Given the description of an element on the screen output the (x, y) to click on. 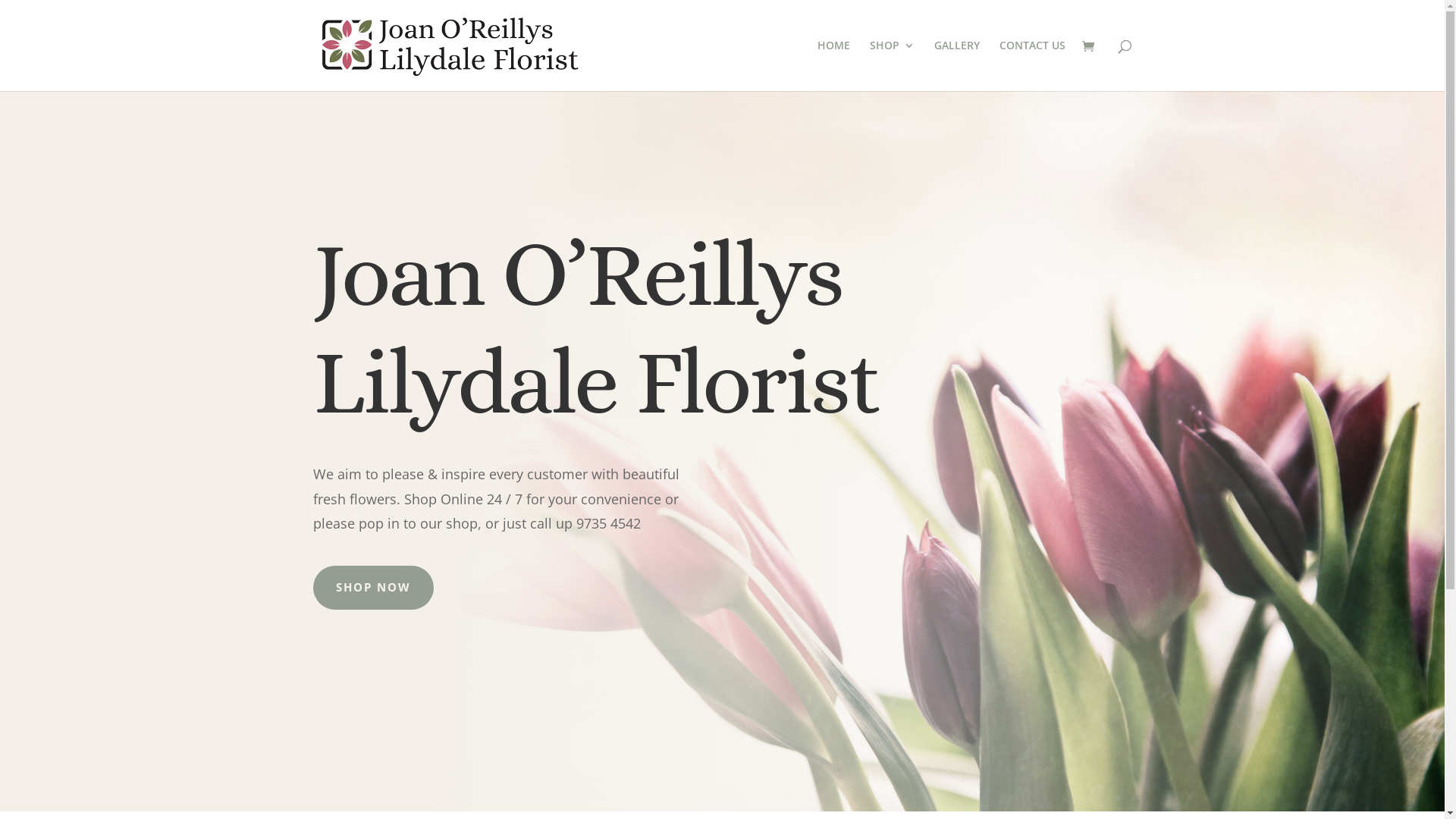
CONTACT US Element type: text (1032, 65)
SHOP NOW Element type: text (372, 587)
GALLERY Element type: text (956, 65)
SHOP Element type: text (891, 65)
HOME Element type: text (833, 65)
